Given the description of an element on the screen output the (x, y) to click on. 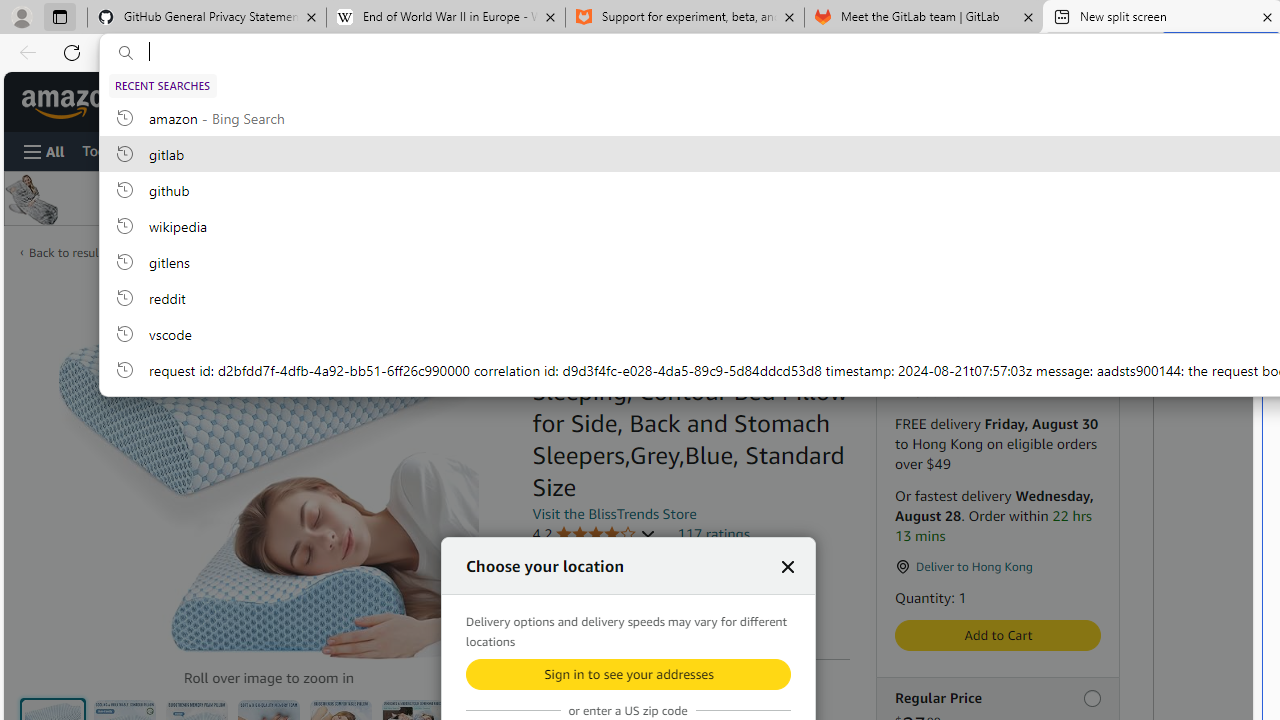
Search icon (125, 53)
4.2 4.2 out of 5 stars (593, 534)
Sponsored ad (570, 198)
Sustainability features 1 sustainability feature  (626, 616)
Add to Cart (997, 635)
Go (721, 101)
Back to results (68, 252)
Returns & Orders (1001, 101)
117 ratings (713, 533)
Search in (350, 102)
Share (489, 307)
